Given the description of an element on the screen output the (x, y) to click on. 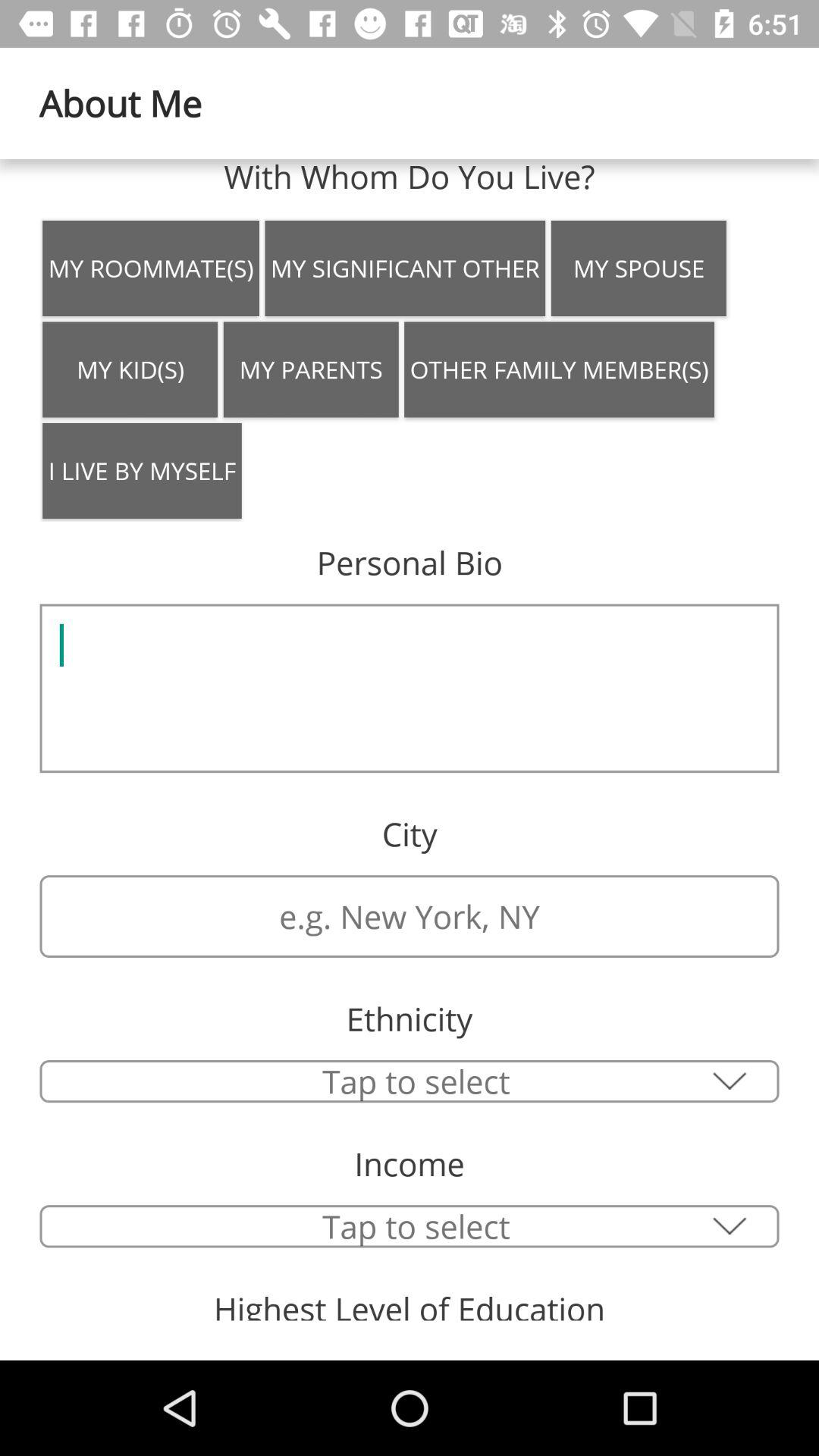
personal details field (409, 688)
